Given the description of an element on the screen output the (x, y) to click on. 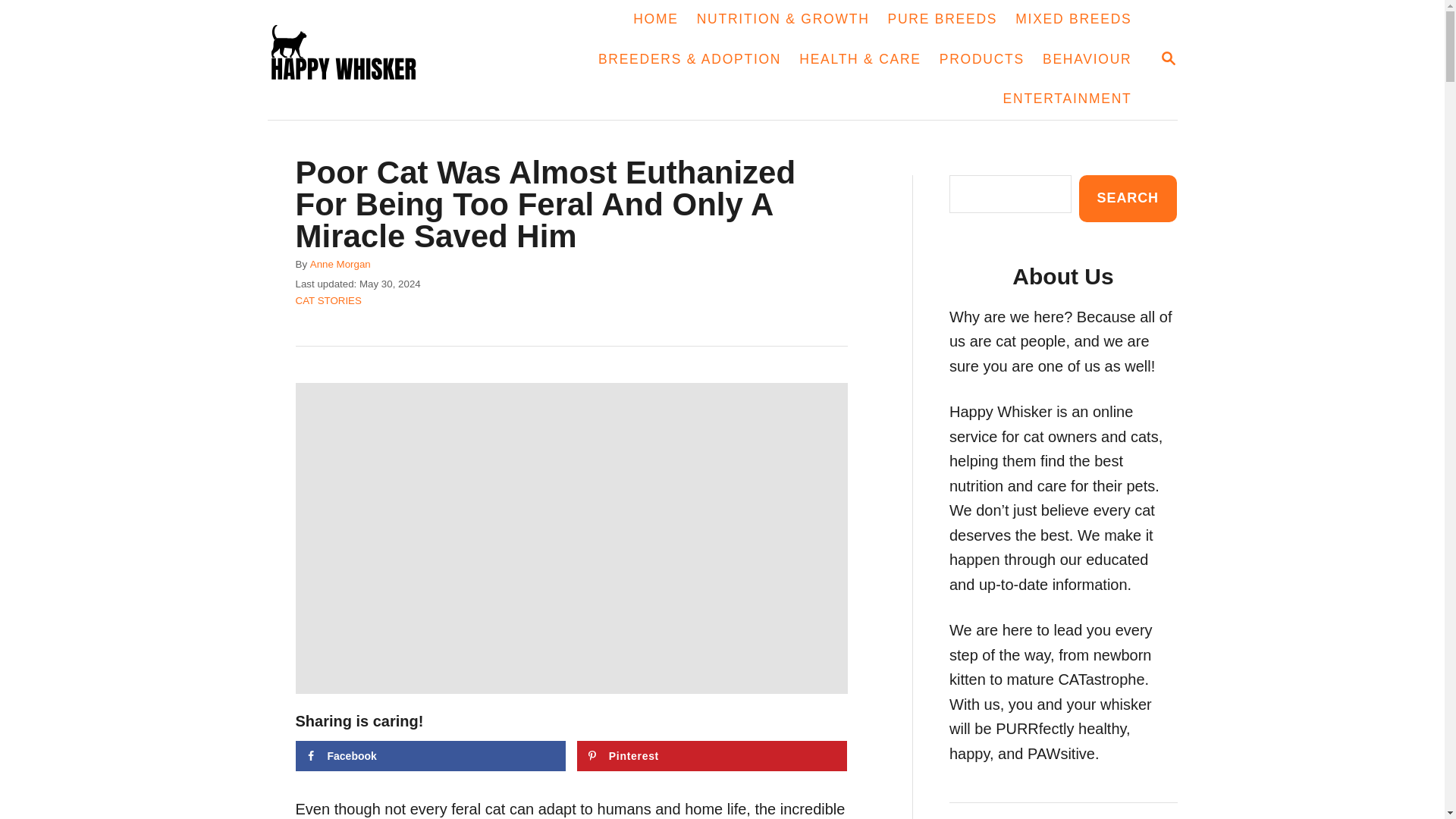
Pinterest (711, 756)
PRODUCTS (981, 59)
MIXED BREEDS (1073, 19)
Save to Pinterest (711, 756)
Anne Morgan (340, 263)
BEHAVIOUR (1087, 59)
MAGNIFYING GLASS (1167, 59)
SEARCH (1167, 58)
happywhisker (1127, 197)
Facebook (355, 59)
ENTERTAINMENT (430, 756)
CAT STORIES (1067, 99)
PURE BREEDS (328, 300)
HOME (943, 19)
